Given the description of an element on the screen output the (x, y) to click on. 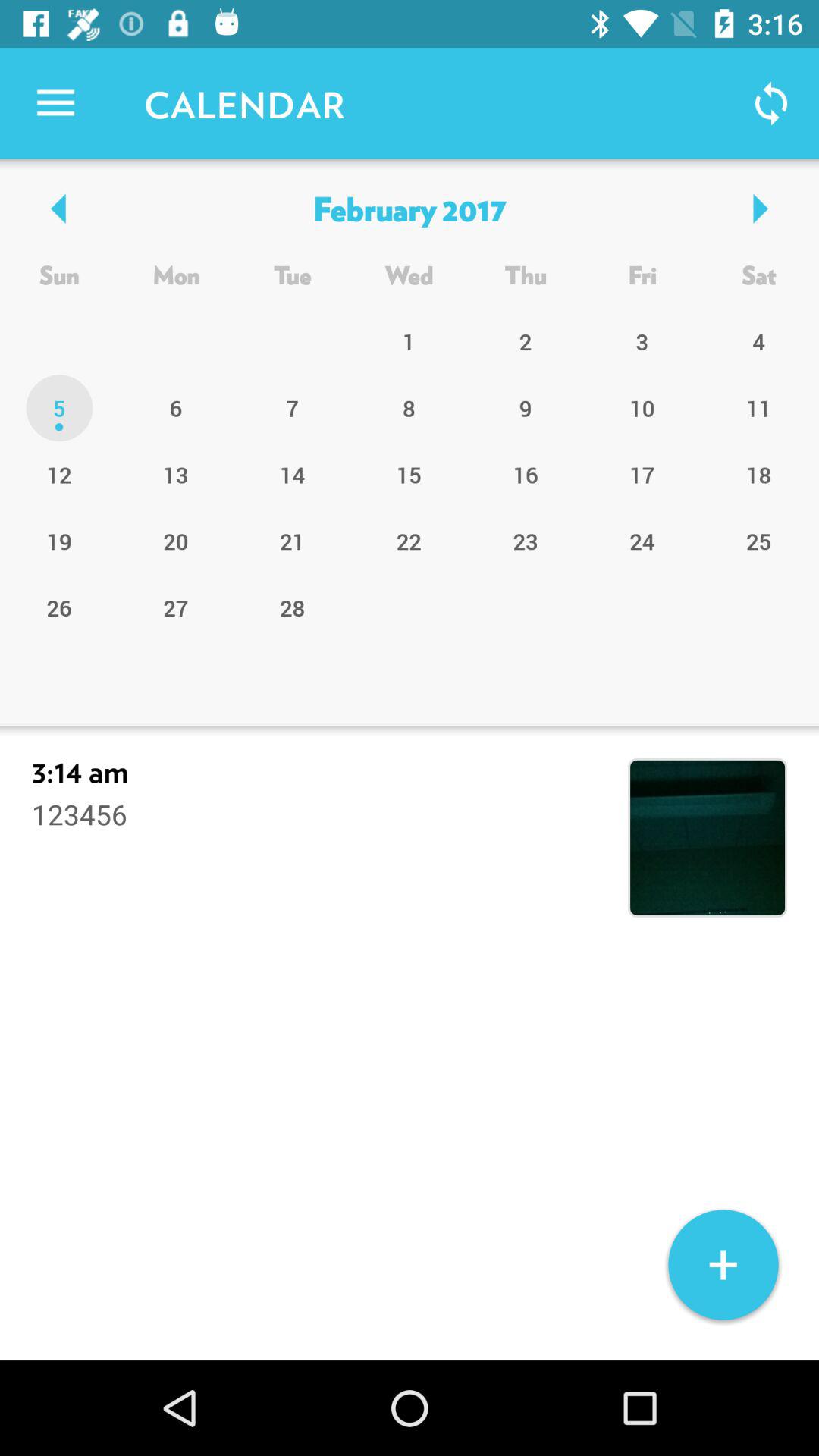
select the icon to the right of 5 (175, 474)
